Given the description of an element on the screen output the (x, y) to click on. 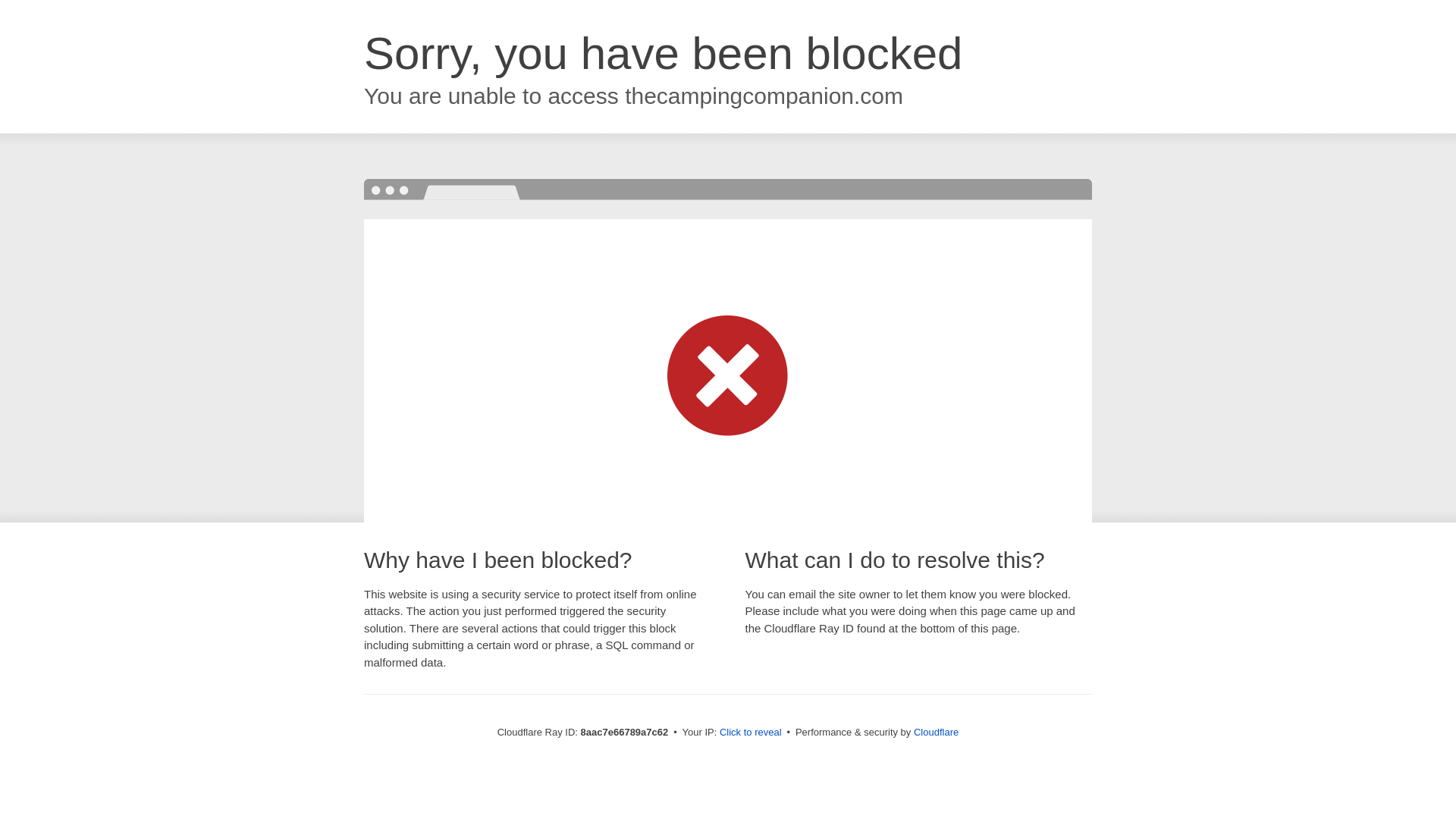
Cloudflare (936, 731)
Click to reveal (750, 732)
